Given the description of an element on the screen output the (x, y) to click on. 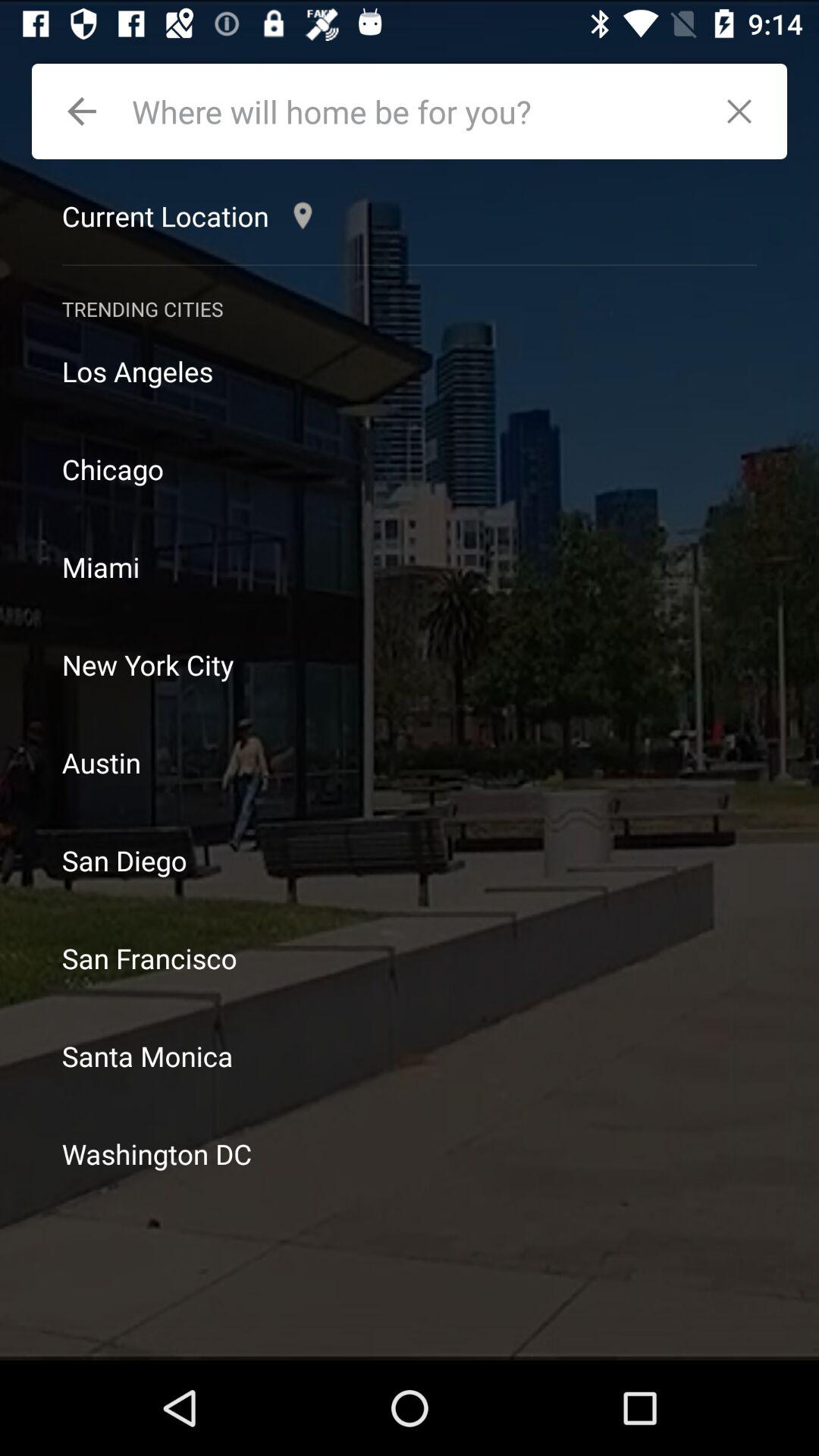
go back (81, 111)
